Given the description of an element on the screen output the (x, y) to click on. 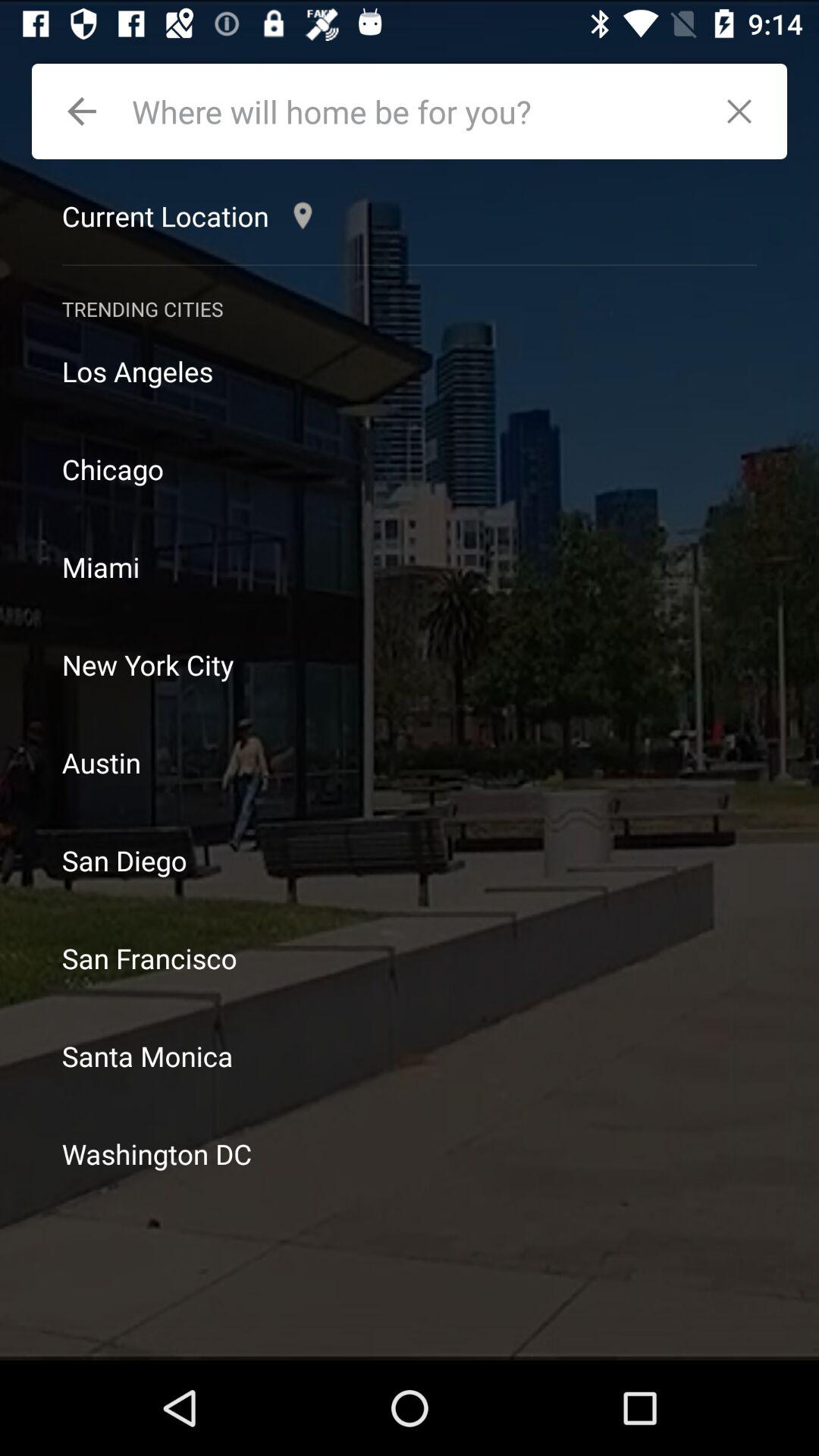
go back (81, 111)
